Given the description of an element on the screen output the (x, y) to click on. 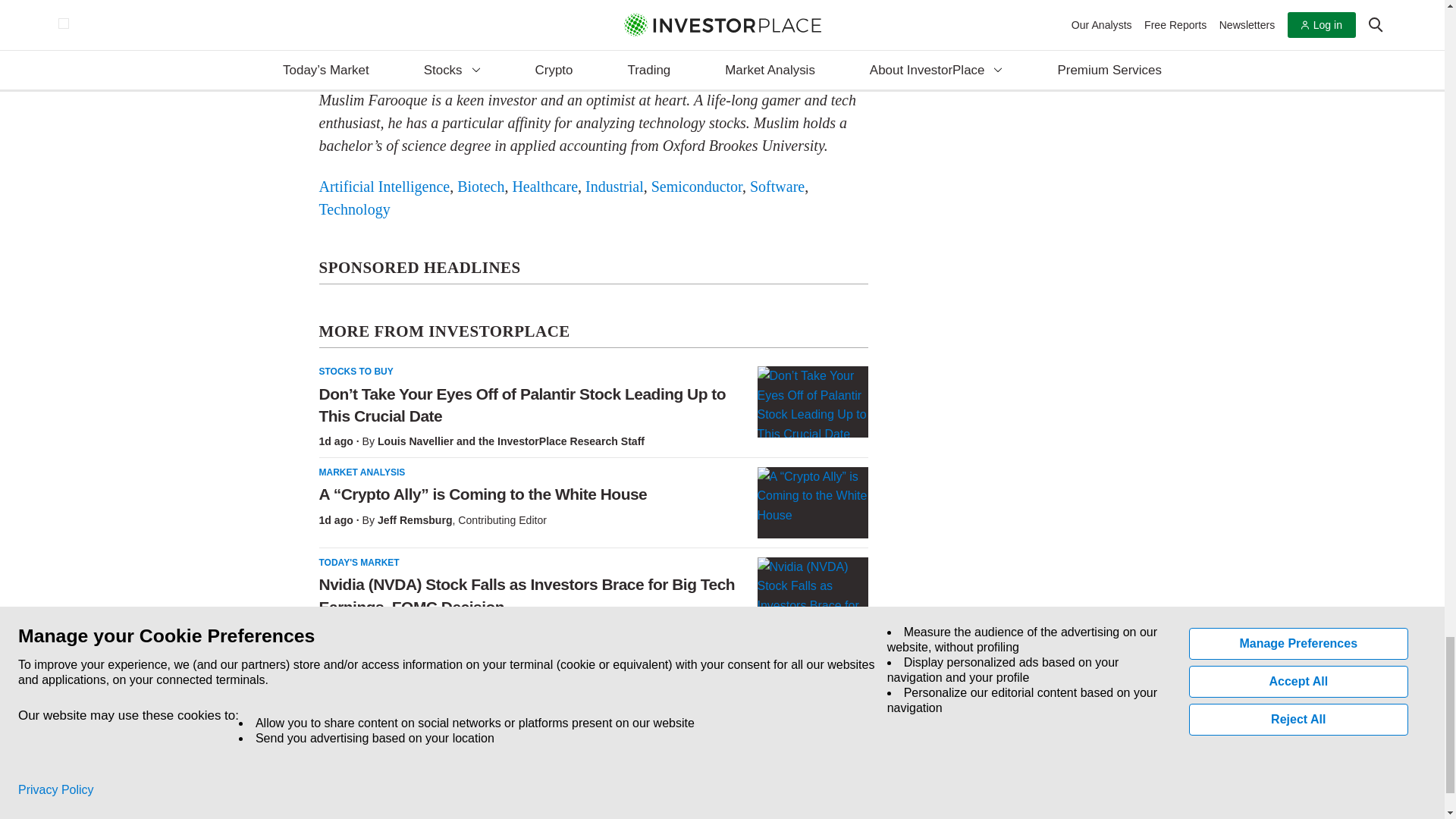
Articles from Biotech industry (480, 185)
View profile of Shrey Dua (403, 632)
Articles from Technology industry (354, 208)
View profile of Jeff Remsburg (414, 520)
Articles from Artificial Intelligence industry (383, 185)
Articles from Semiconductor industry (696, 185)
Visit our Facebook Page (319, 784)
Articles from Software industry (777, 185)
Articles from Healthcare industry (545, 185)
Articles from Industrial industry (614, 185)
